Given the description of an element on the screen output the (x, y) to click on. 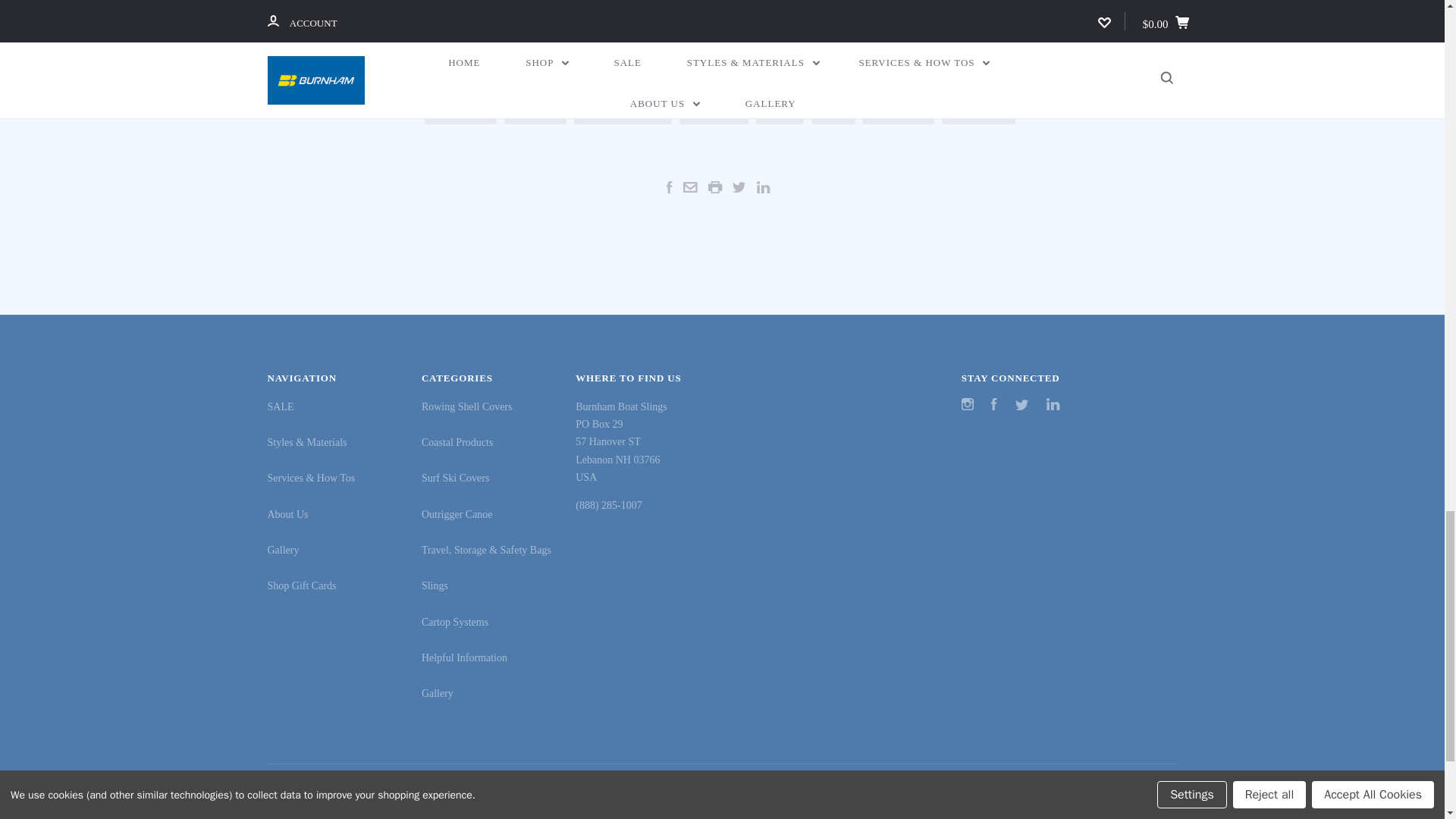
Facebook (994, 406)
LinkedIn (1052, 406)
Twitter (1021, 406)
twitter (1021, 404)
facebook (669, 186)
Instagram (967, 406)
twitter (738, 186)
email (689, 186)
printer (714, 186)
instagram (967, 404)
facebook (994, 404)
linkedin (1052, 404)
linkedin (763, 186)
